Given the description of an element on the screen output the (x, y) to click on. 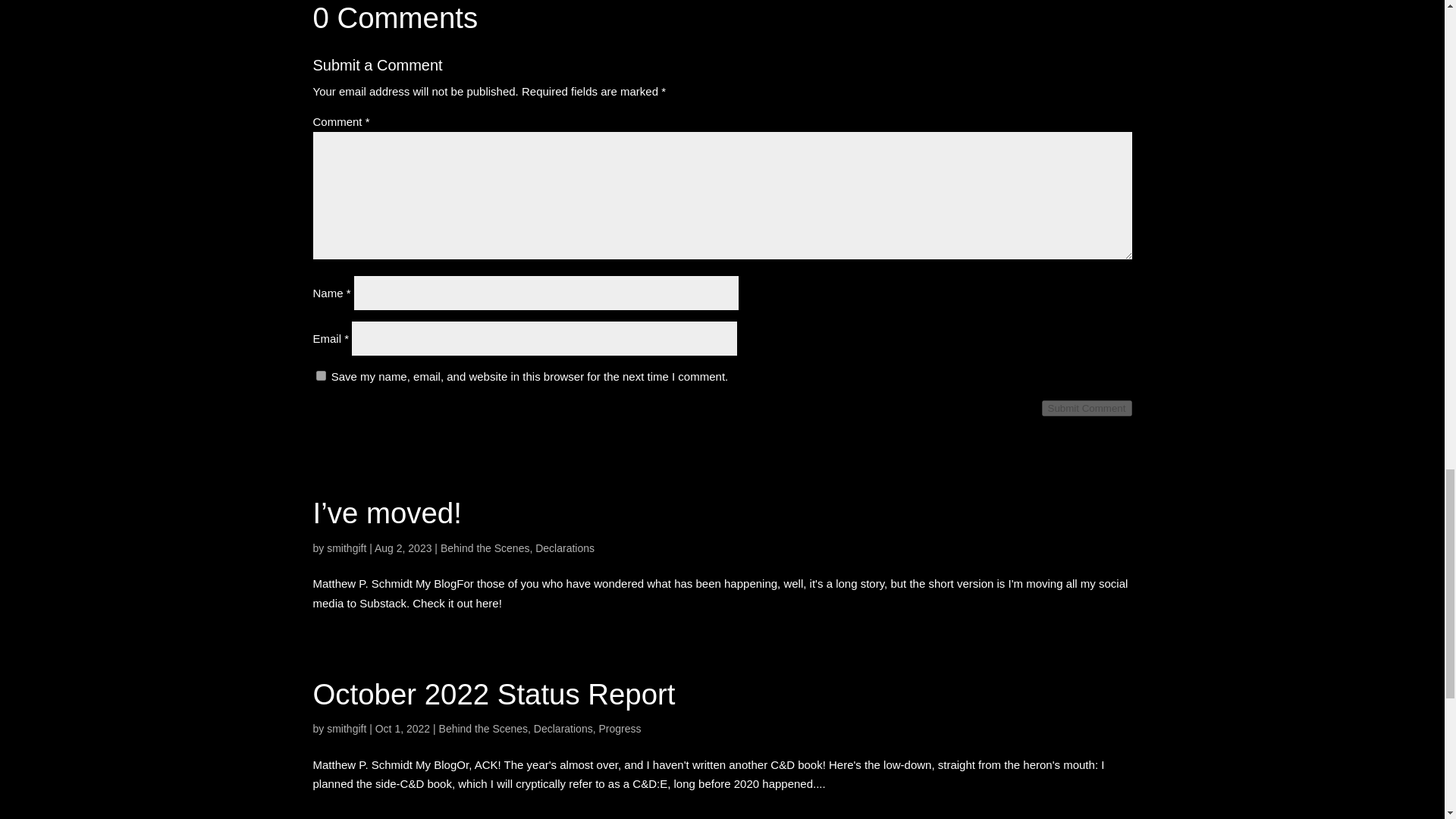
Submit Comment (1087, 408)
Posts by smithgift (346, 548)
Behind the Scenes (485, 548)
Posts by smithgift (346, 728)
yes (319, 375)
smithgift (346, 548)
